Given the description of an element on the screen output the (x, y) to click on. 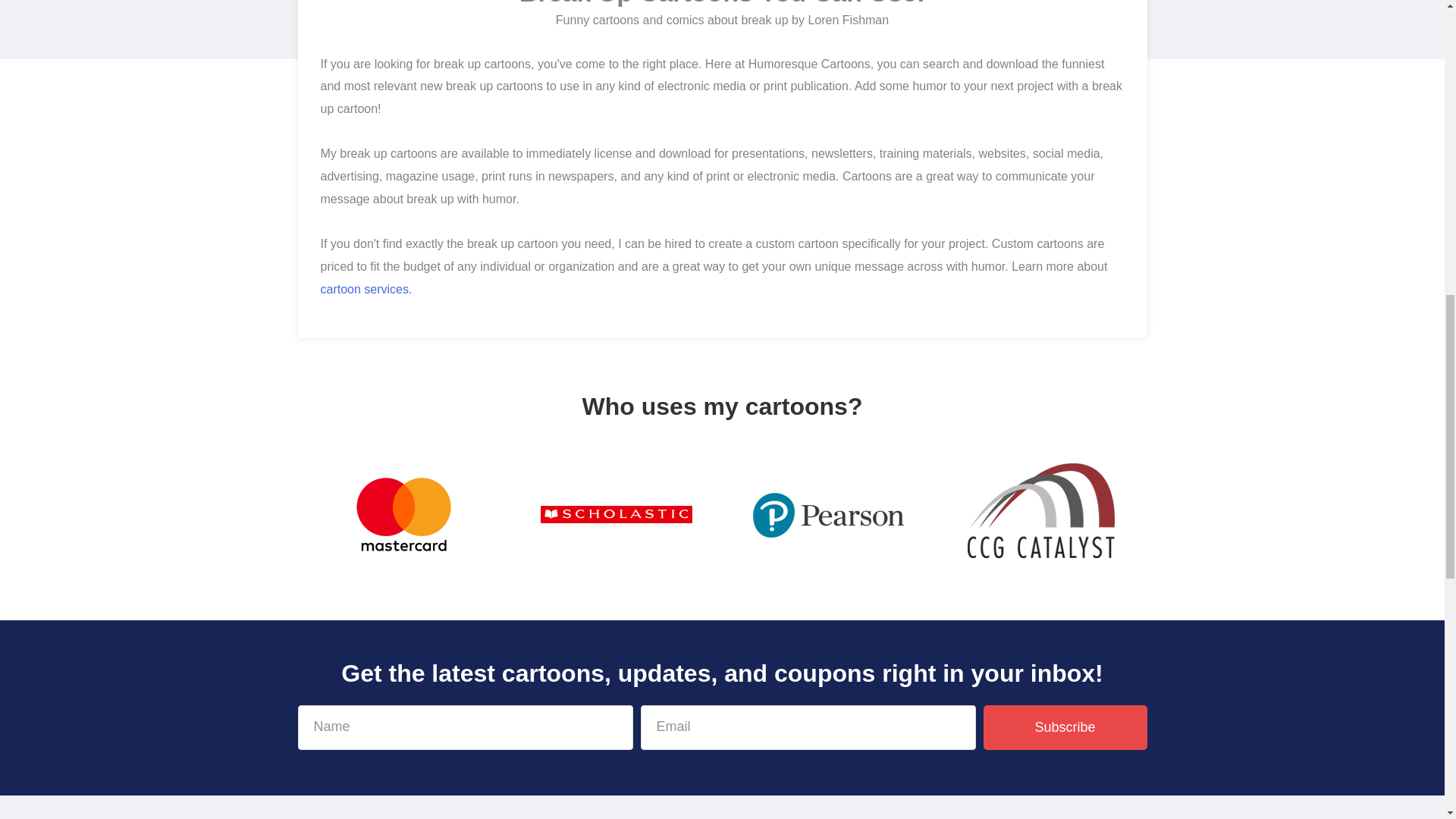
Subscribe (1064, 727)
cartoon services. (366, 288)
